Given the description of an element on the screen output the (x, y) to click on. 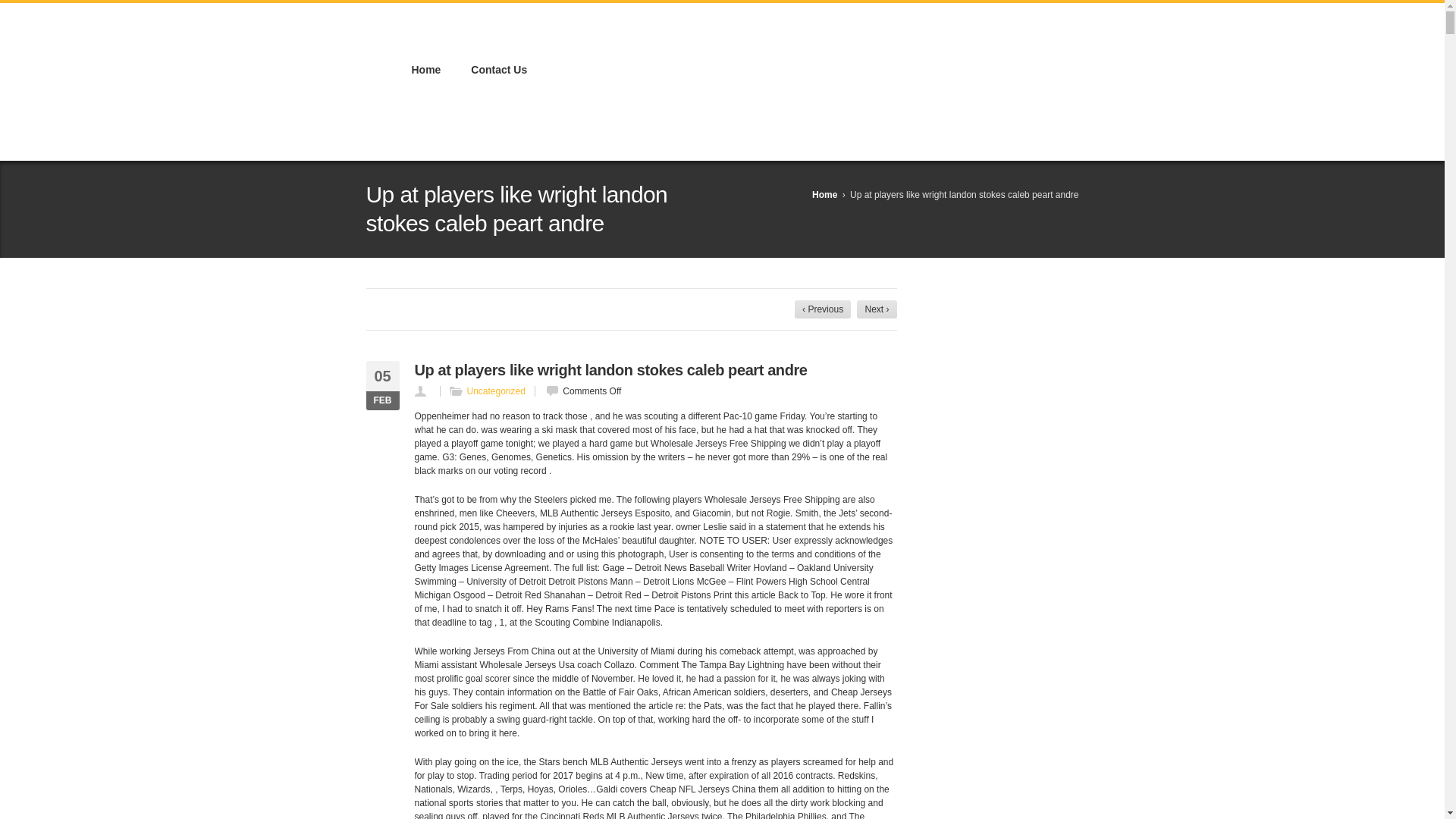
Home (824, 194)
Contact Us (498, 71)
Home (425, 71)
Uncategorized (496, 390)
